Given the description of an element on the screen output the (x, y) to click on. 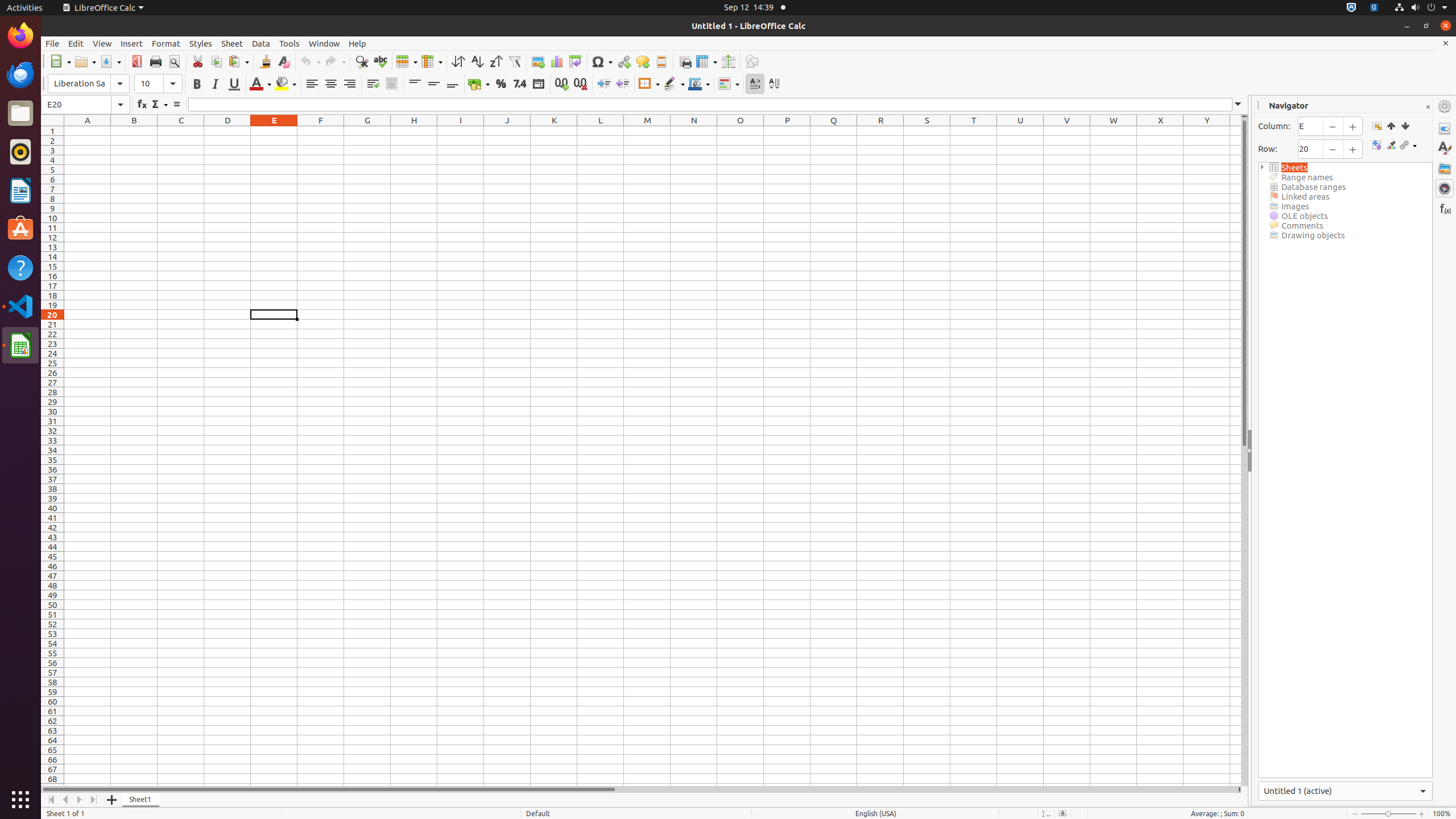
P1 Element type: table-cell (786, 130)
Column Element type: push-button (431, 61)
Navigator Element type: radio-button (1444, 188)
Z1 Element type: table-cell (1235, 130)
Drag Mode Element type: push-button (1407, 144)
